Given the description of an element on the screen output the (x, y) to click on. 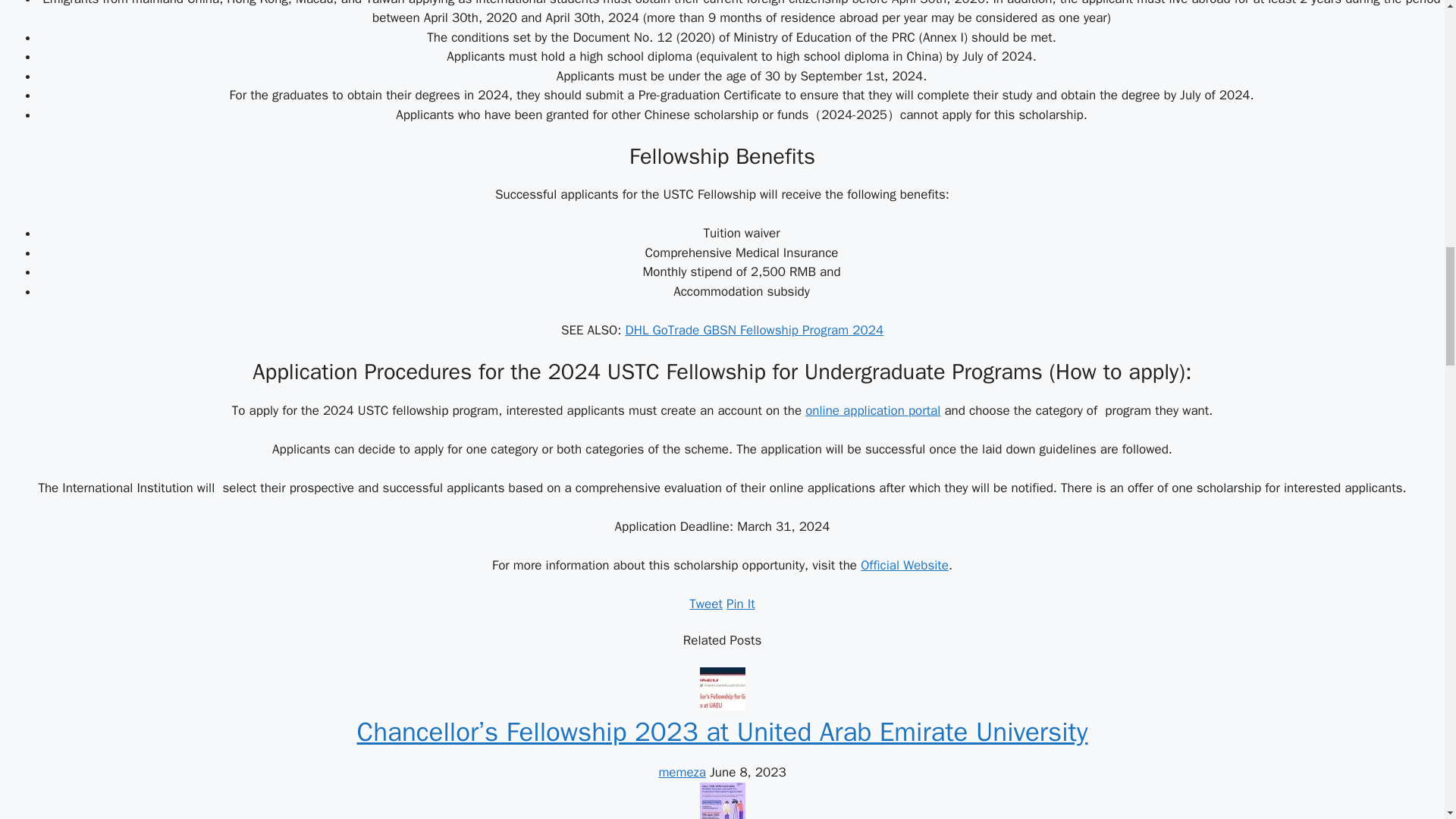
Official Website (904, 565)
Tweet (705, 603)
Posts by memeza (682, 772)
memeza (682, 772)
DHL GoTrade GBSN Fellowship Program 2024 (753, 330)
Pin It (740, 603)
online application portal (872, 410)
